Given the description of an element on the screen output the (x, y) to click on. 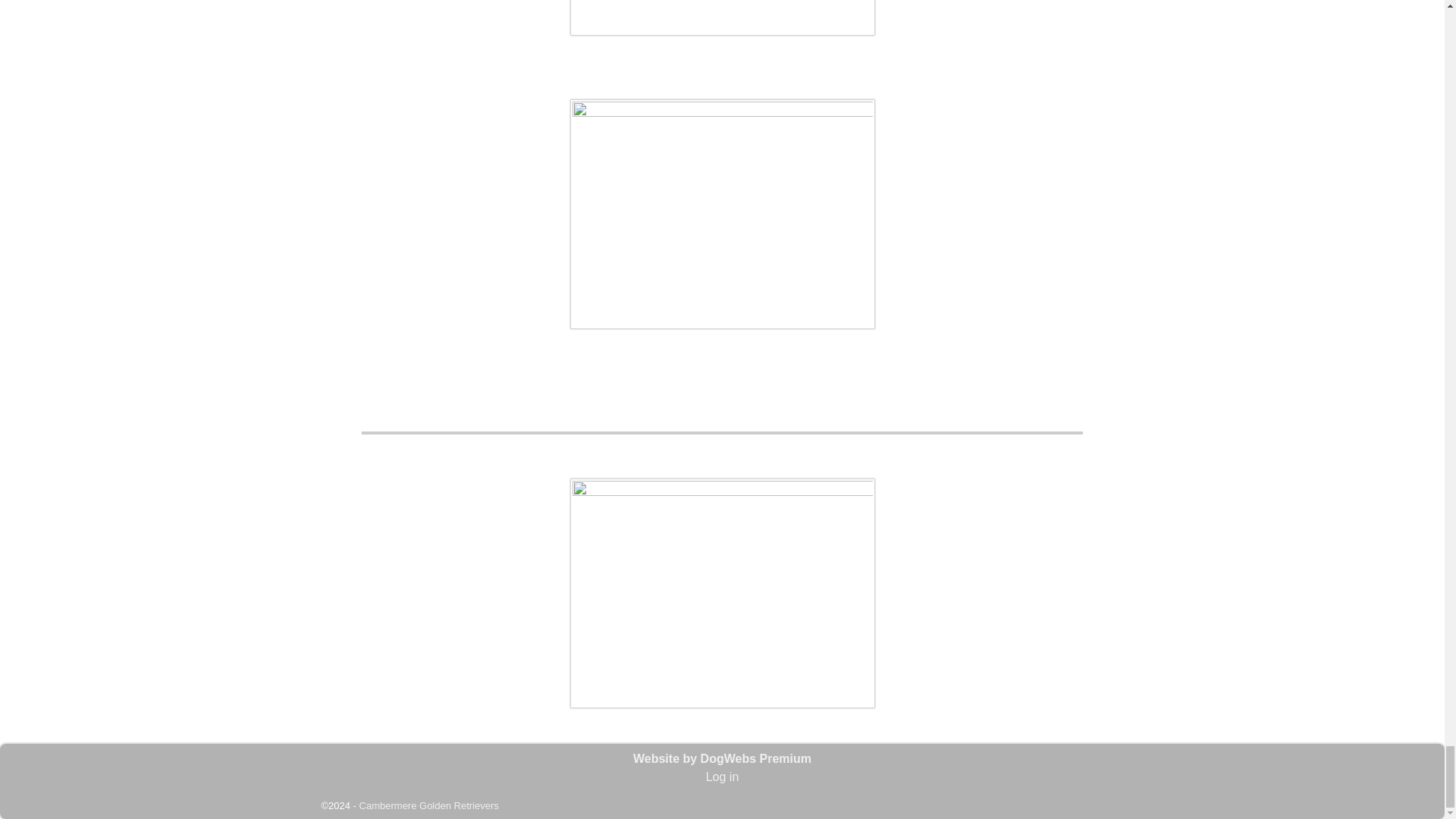
Cambermere Golden Retrievers (429, 805)
